Given the description of an element on the screen output the (x, y) to click on. 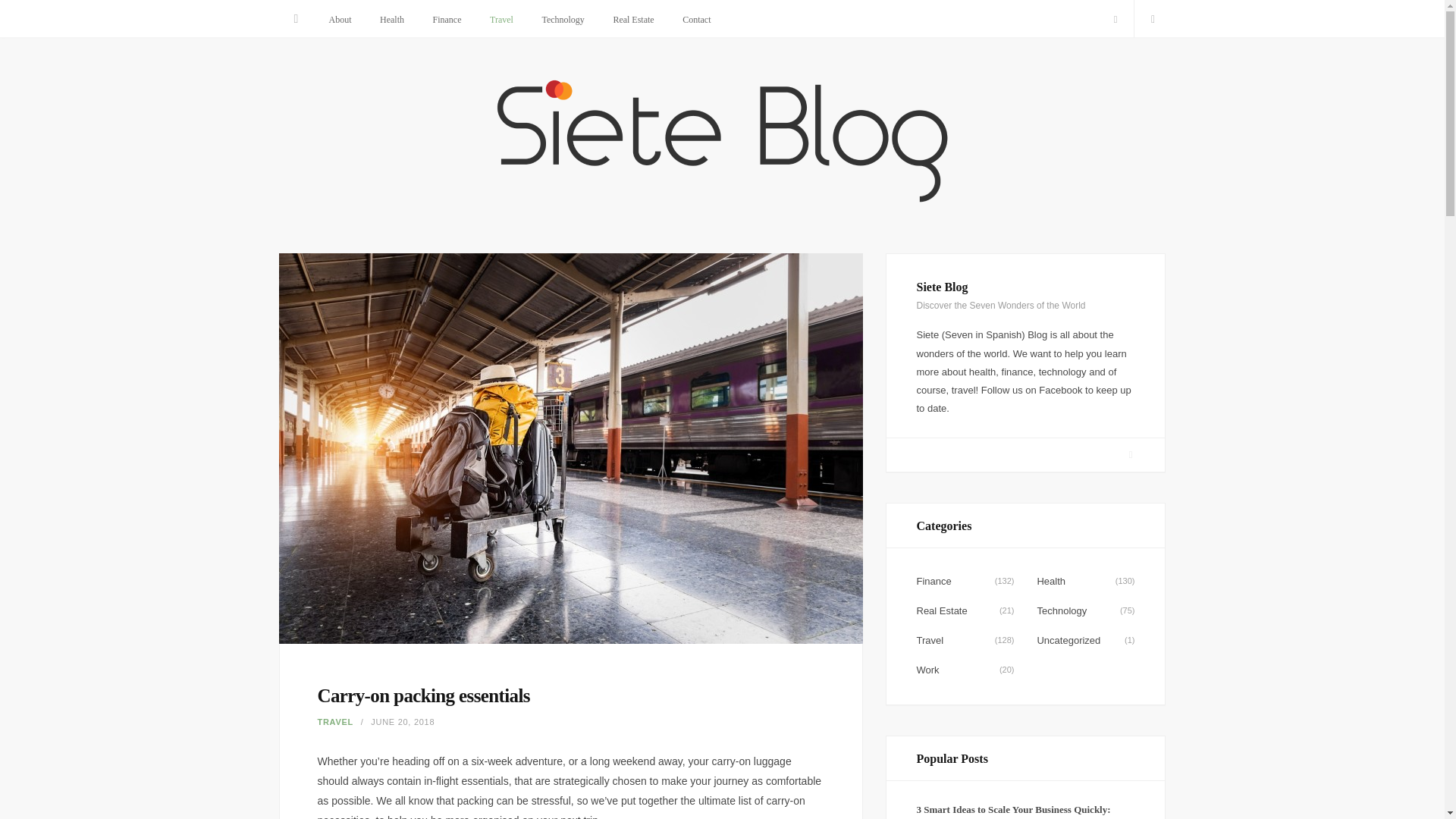
Menu (296, 18)
Contact (696, 19)
Real Estate (632, 19)
Travel (501, 19)
Health (391, 19)
TRAVEL (334, 721)
Finance (447, 19)
About (339, 19)
Technology (562, 19)
